Given the description of an element on the screen output the (x, y) to click on. 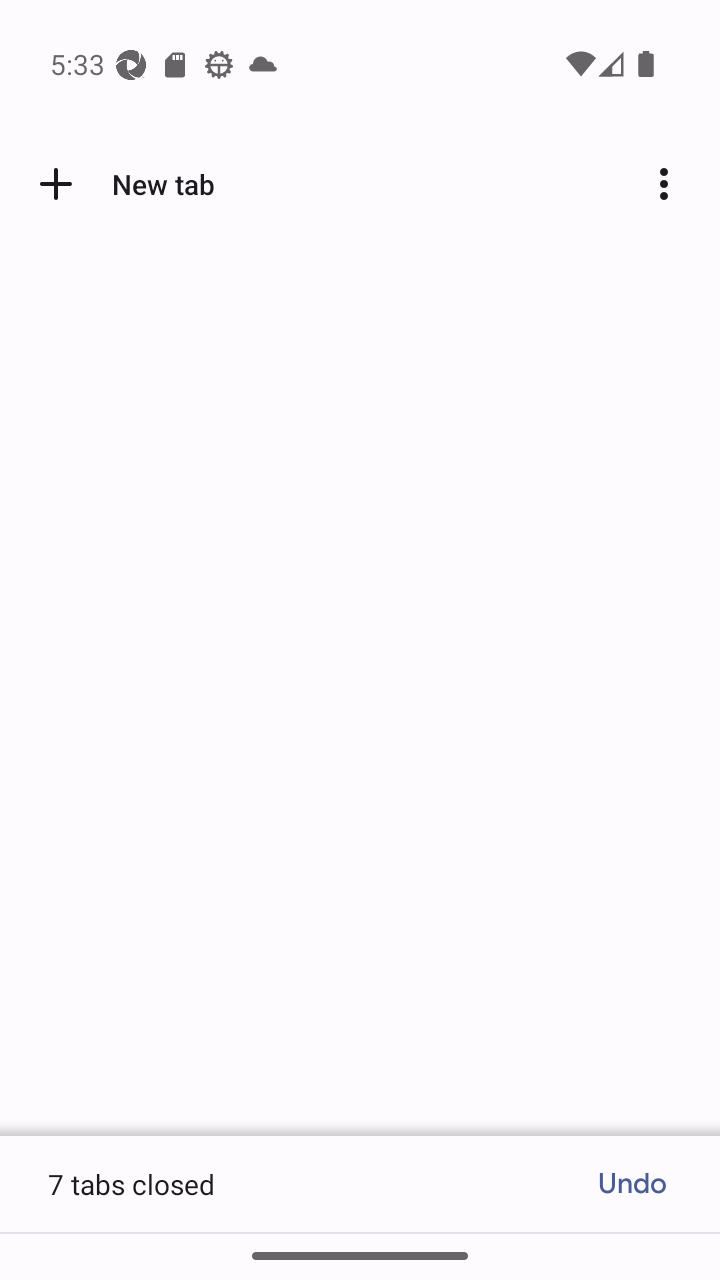
New tab (123, 184)
More options (672, 184)
Undo (632, 1183)
